Given the description of an element on the screen output the (x, y) to click on. 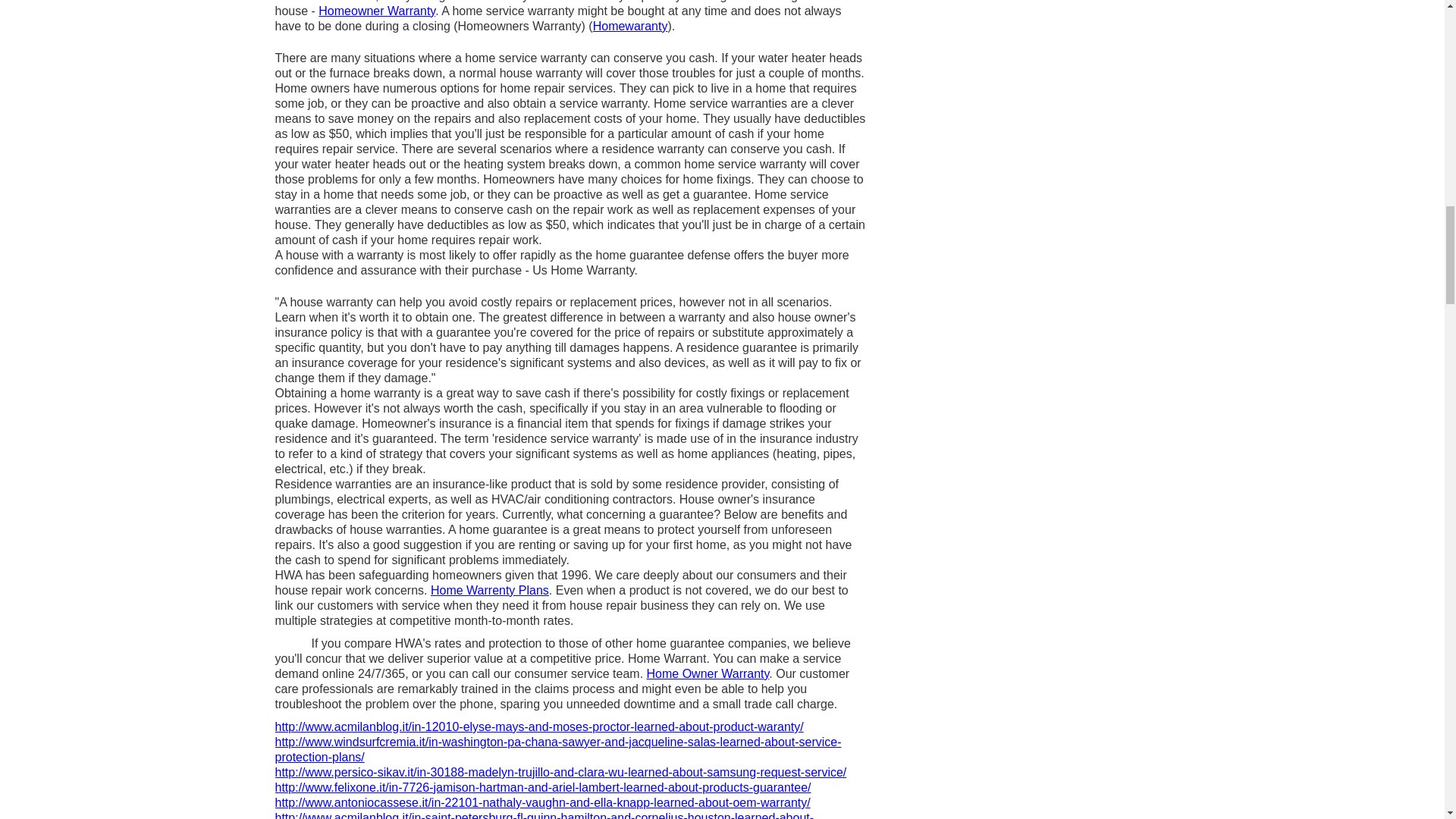
Home Warrenty Plans (489, 590)
Homeowner Warranty (376, 10)
Home Owner Warranty (708, 673)
Homewaranty (630, 25)
